Given the description of an element on the screen output the (x, y) to click on. 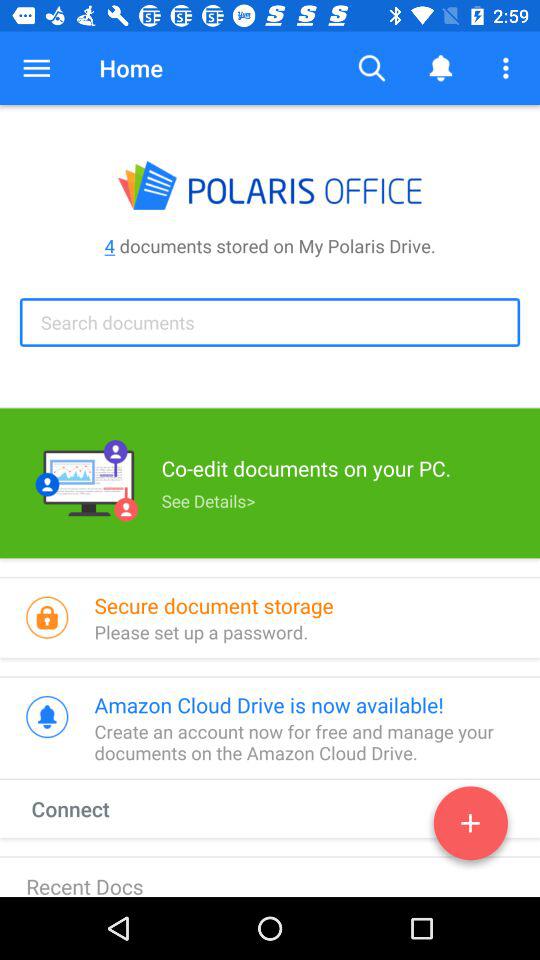
launch item to the right of connect icon (470, 827)
